Given the description of an element on the screen output the (x, y) to click on. 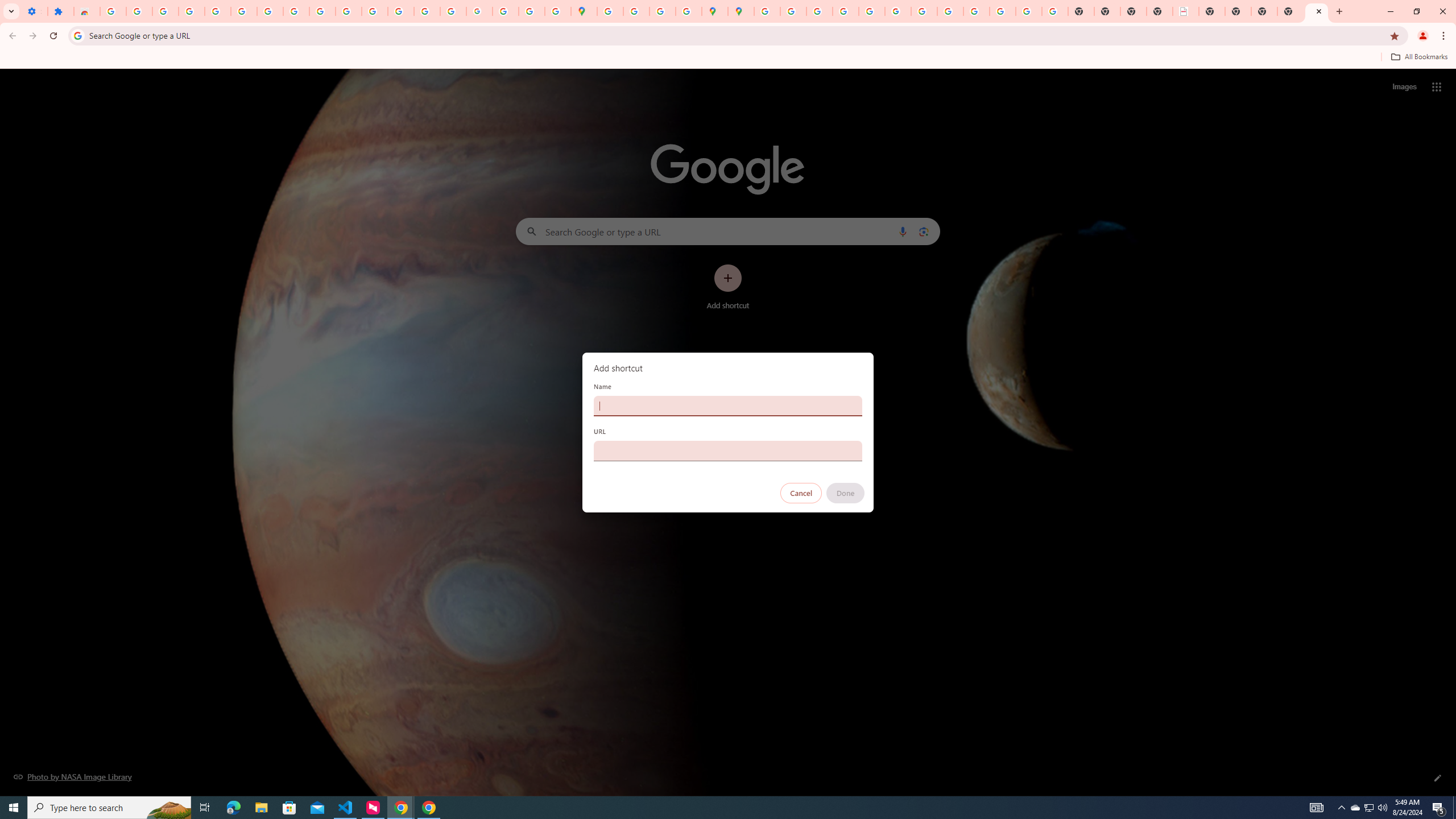
New Tab (1316, 11)
Sign in - Google Accounts (112, 11)
Search icon (77, 35)
New Tab (1290, 11)
